Given the description of an element on the screen output the (x, y) to click on. 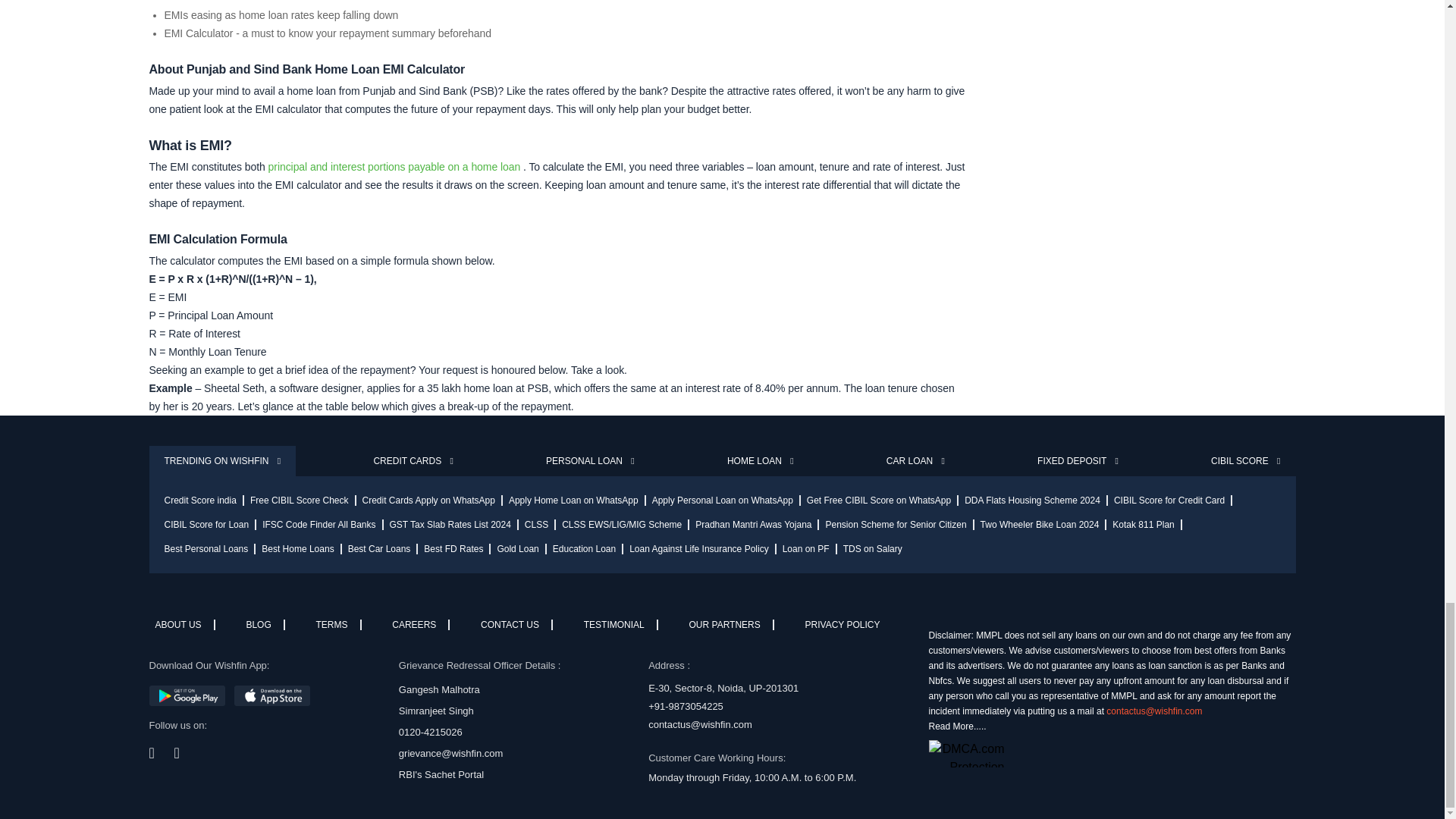
DMCA.com Protection Status (1109, 753)
